Given the description of an element on the screen output the (x, y) to click on. 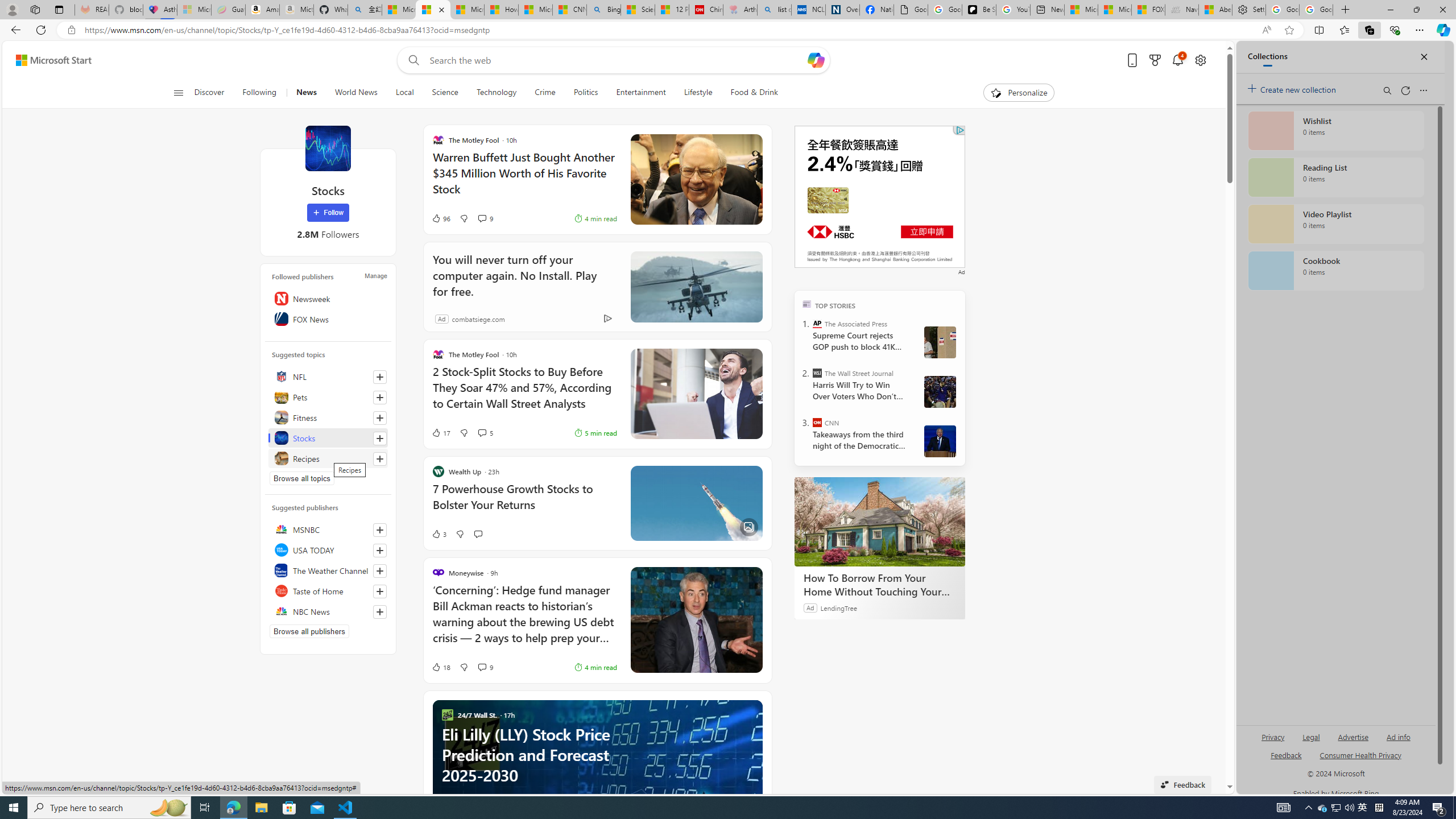
96 Like (440, 218)
Enter your search term (617, 59)
combatsiege.com (478, 318)
TOP (806, 302)
Aberdeen, Hong Kong SAR hourly forecast | Microsoft Weather (1215, 9)
CNN - MSN (569, 9)
12 Popular Science Lies that Must be Corrected (671, 9)
